Given the description of an element on the screen output the (x, y) to click on. 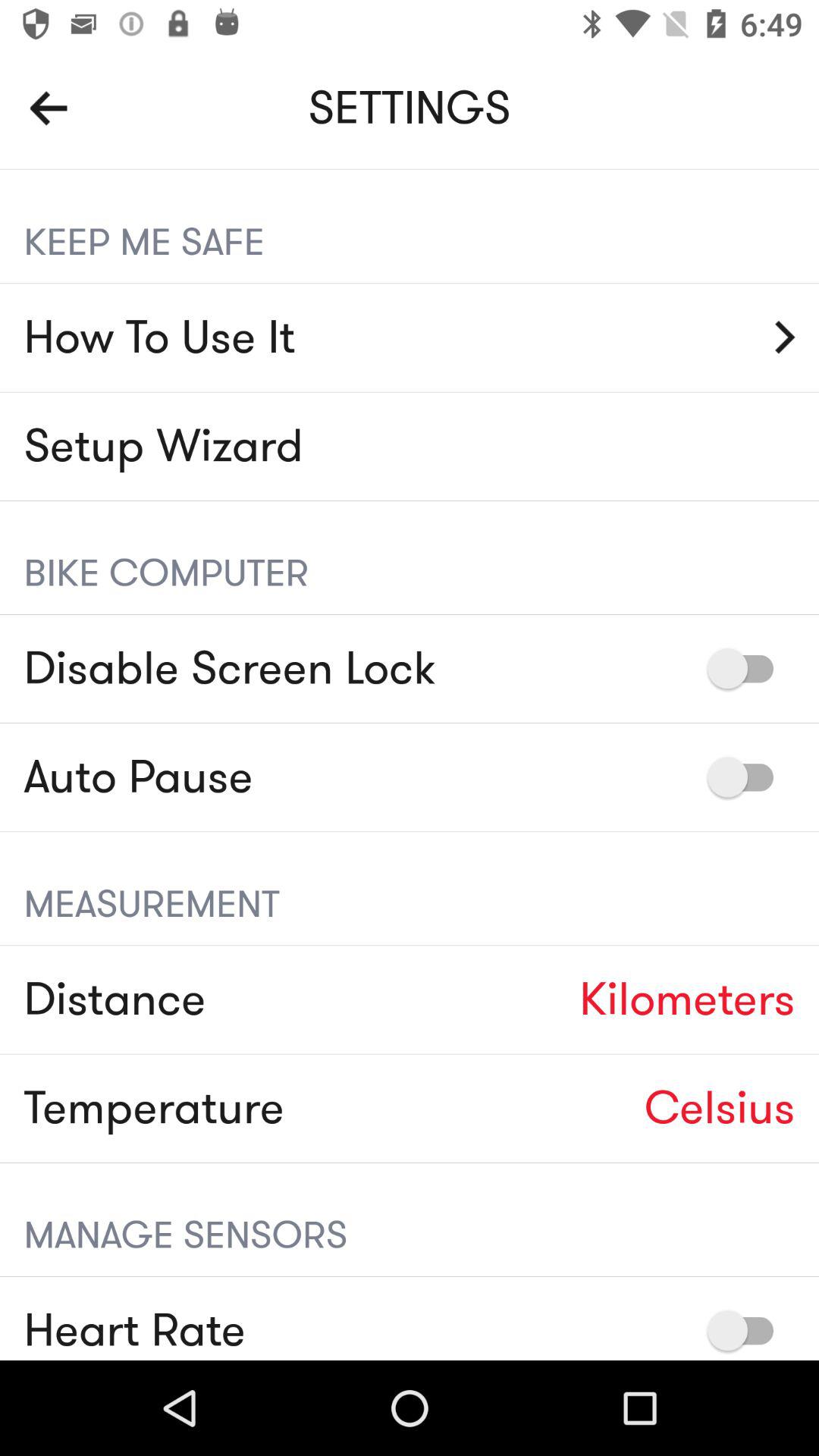
go back to previous screen (48, 108)
